Given the description of an element on the screen output the (x, y) to click on. 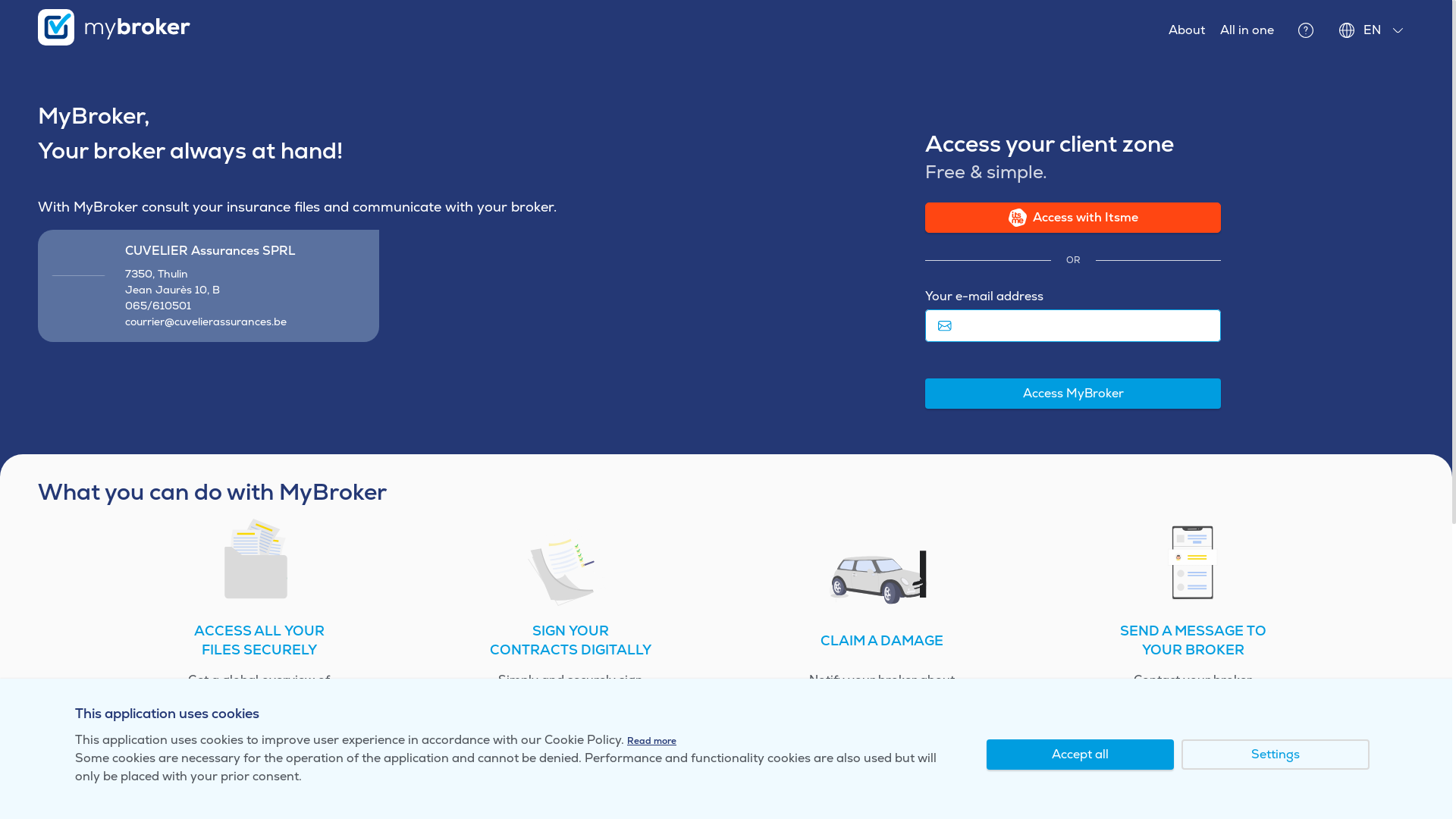
Access with Itsme Element type: text (1072, 217)
Access MyBroker Element type: text (1072, 393)
Accept all Element type: text (1080, 754)
About Element type: text (1186, 30)
Help Element type: hover (1305, 30)
EN Element type: text (1372, 30)
Settings Element type: text (1275, 754)
All in one Element type: text (1246, 30)
